Given the description of an element on the screen output the (x, y) to click on. 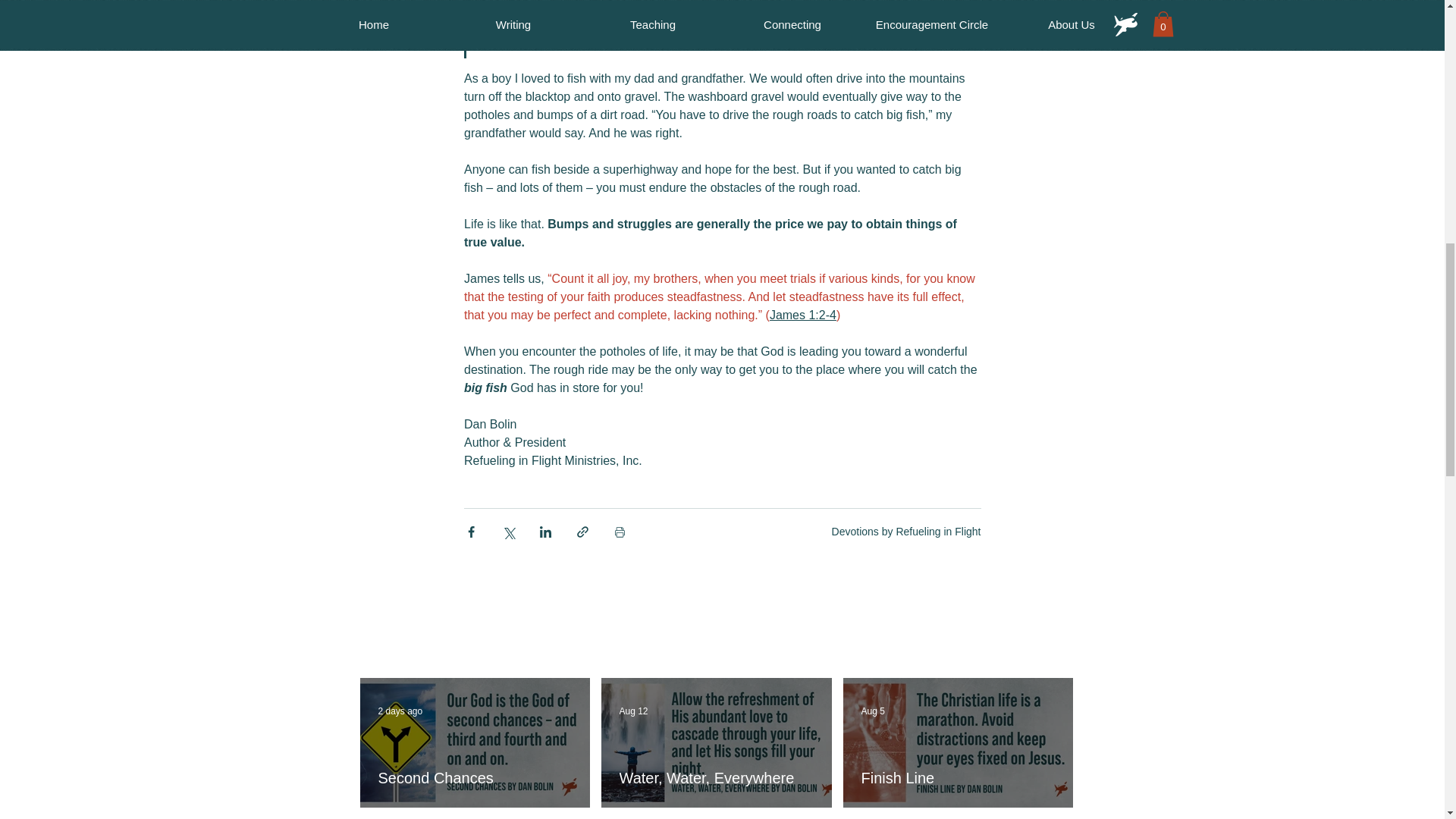
Aug 12 (632, 710)
James 1:2-4 (801, 314)
Aug 5 (873, 710)
2 days ago (399, 710)
